Given the description of an element on the screen output the (x, y) to click on. 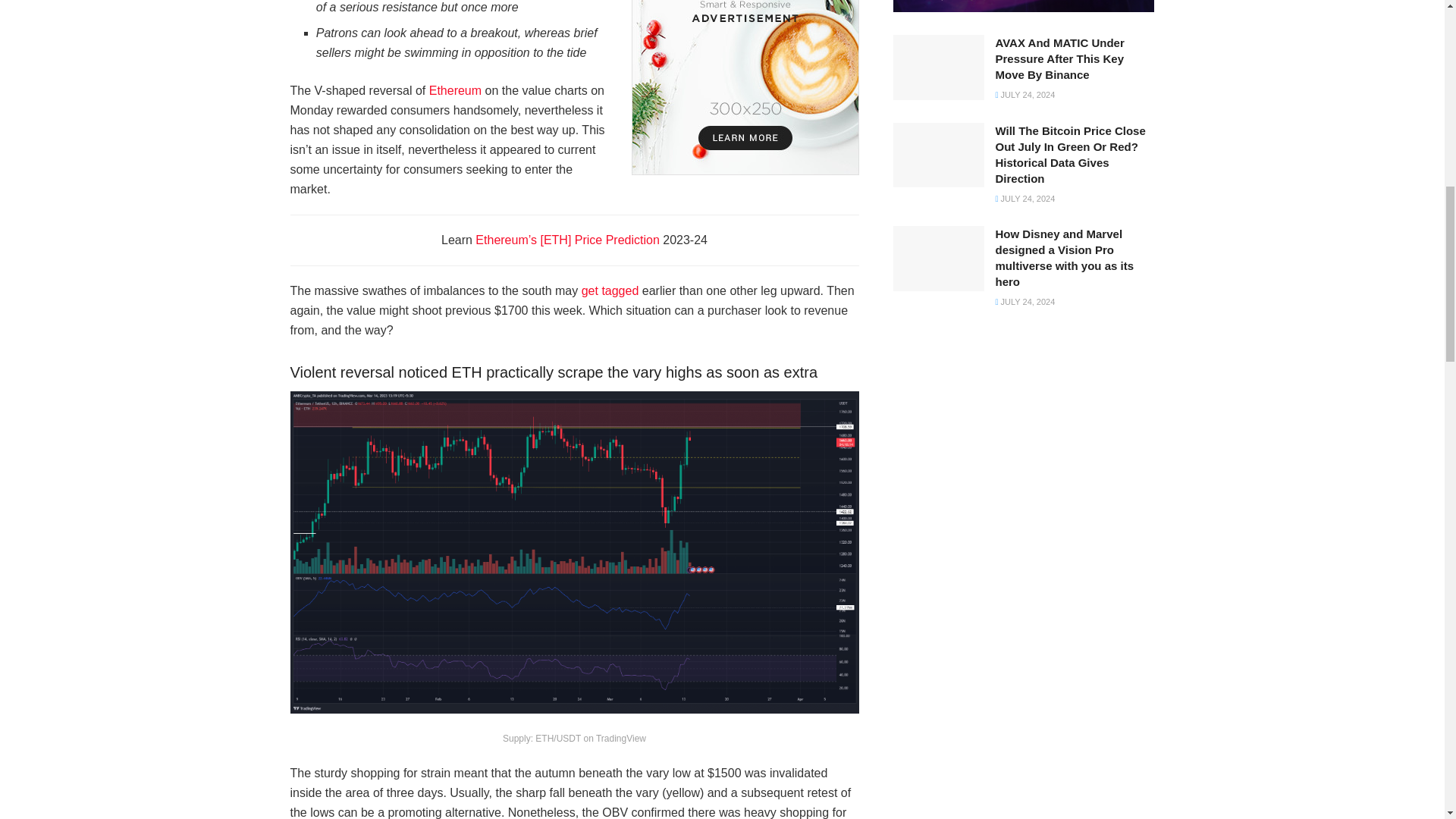
Ethereum (455, 90)
get tagged (609, 290)
